Given the description of an element on the screen output the (x, y) to click on. 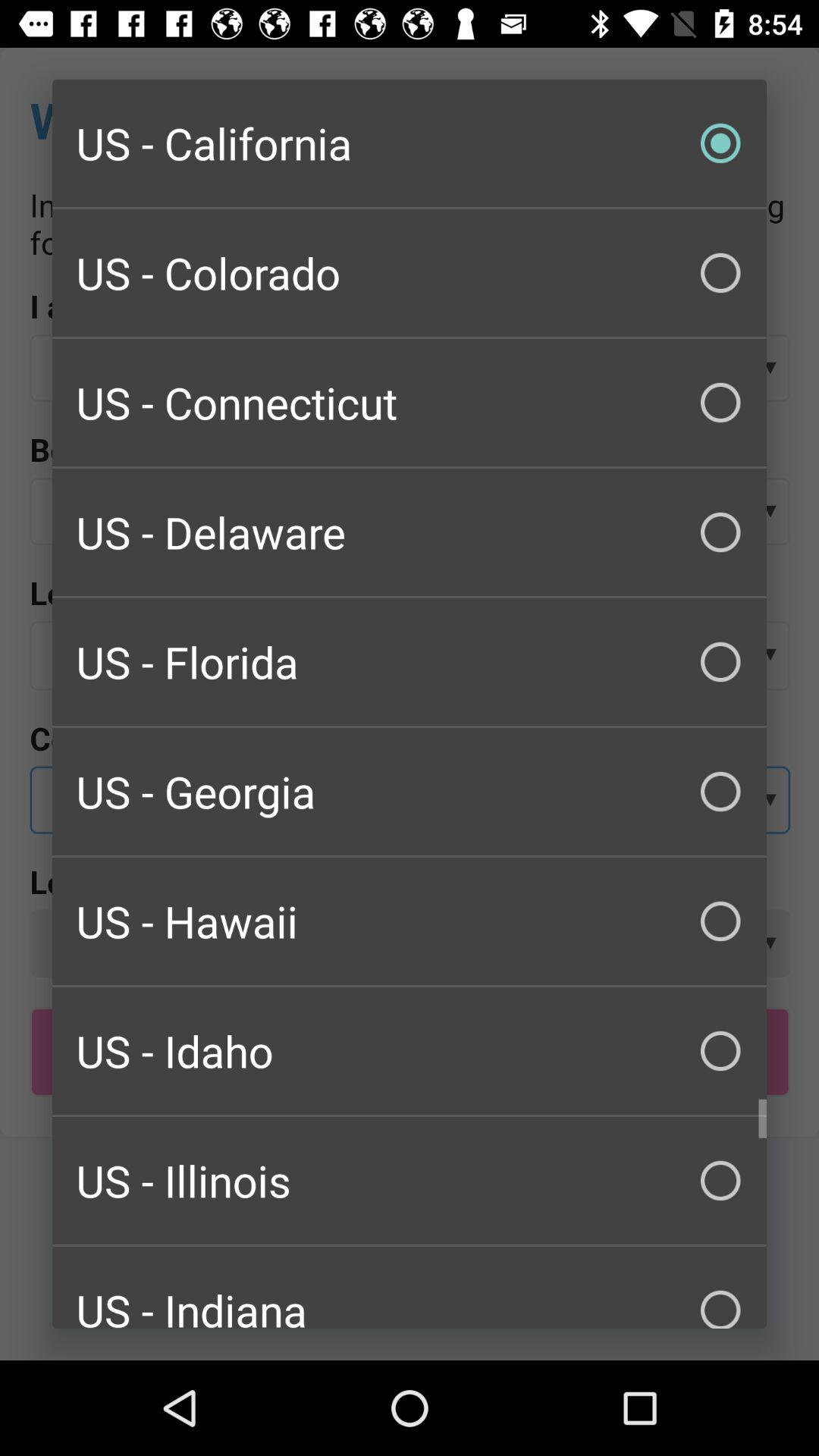
open the icon above the us - indiana (409, 1180)
